Given the description of an element on the screen output the (x, y) to click on. 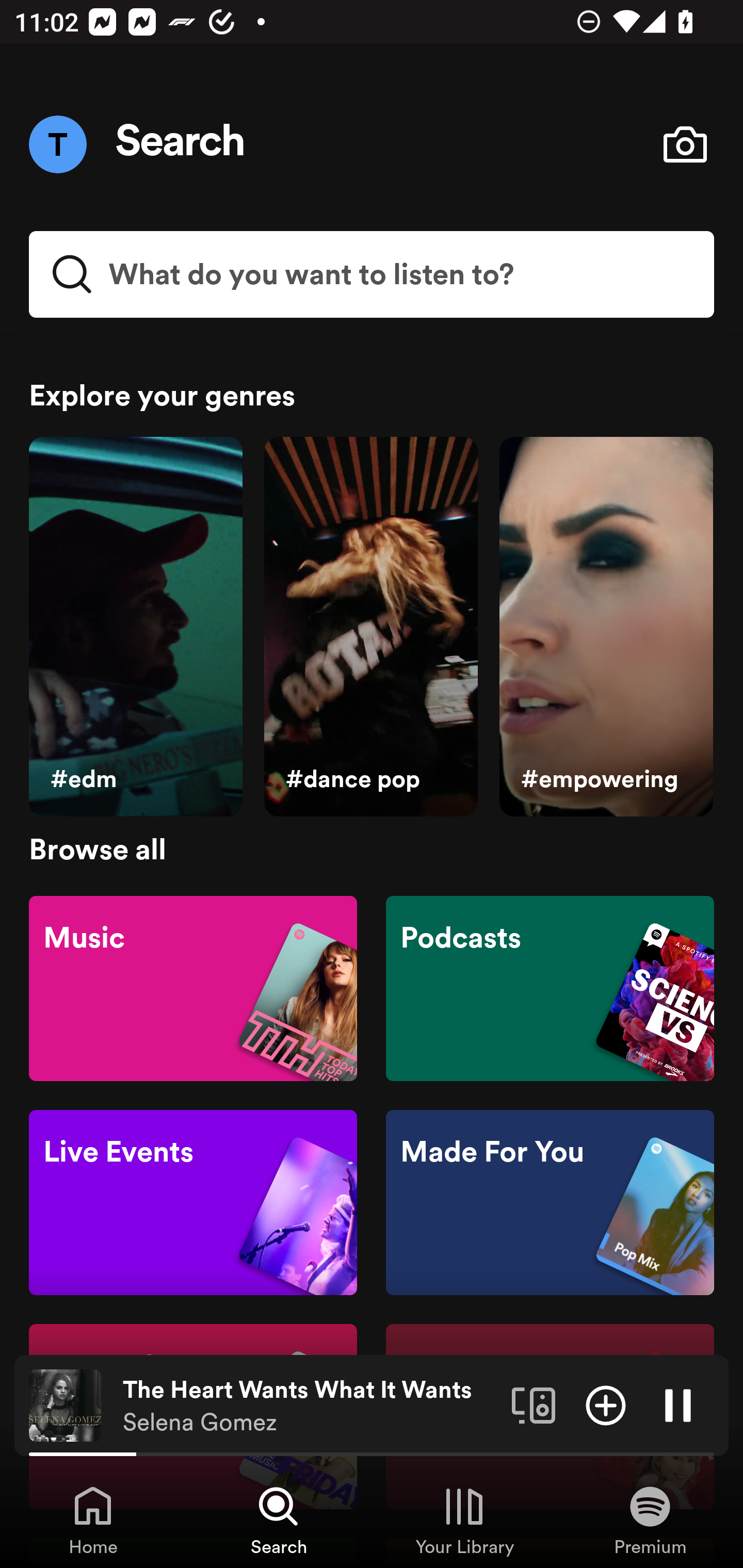
Menu (57, 144)
Open camera (685, 145)
Search (180, 144)
#edm (135, 626)
#dance pop (370, 626)
#empowering (606, 626)
Music (192, 987)
Podcasts (549, 987)
Live Events (192, 1202)
Made For You (549, 1202)
The Heart Wants What It Wants Selena Gomez (309, 1405)
The cover art of the currently playing track (64, 1404)
Connect to a device. Opens the devices menu (533, 1404)
Add item (605, 1404)
Pause (677, 1404)
Home, Tab 1 of 4 Home Home (92, 1519)
Search, Tab 2 of 4 Search Search (278, 1519)
Your Library, Tab 3 of 4 Your Library Your Library (464, 1519)
Premium, Tab 4 of 4 Premium Premium (650, 1519)
